Given the description of an element on the screen output the (x, y) to click on. 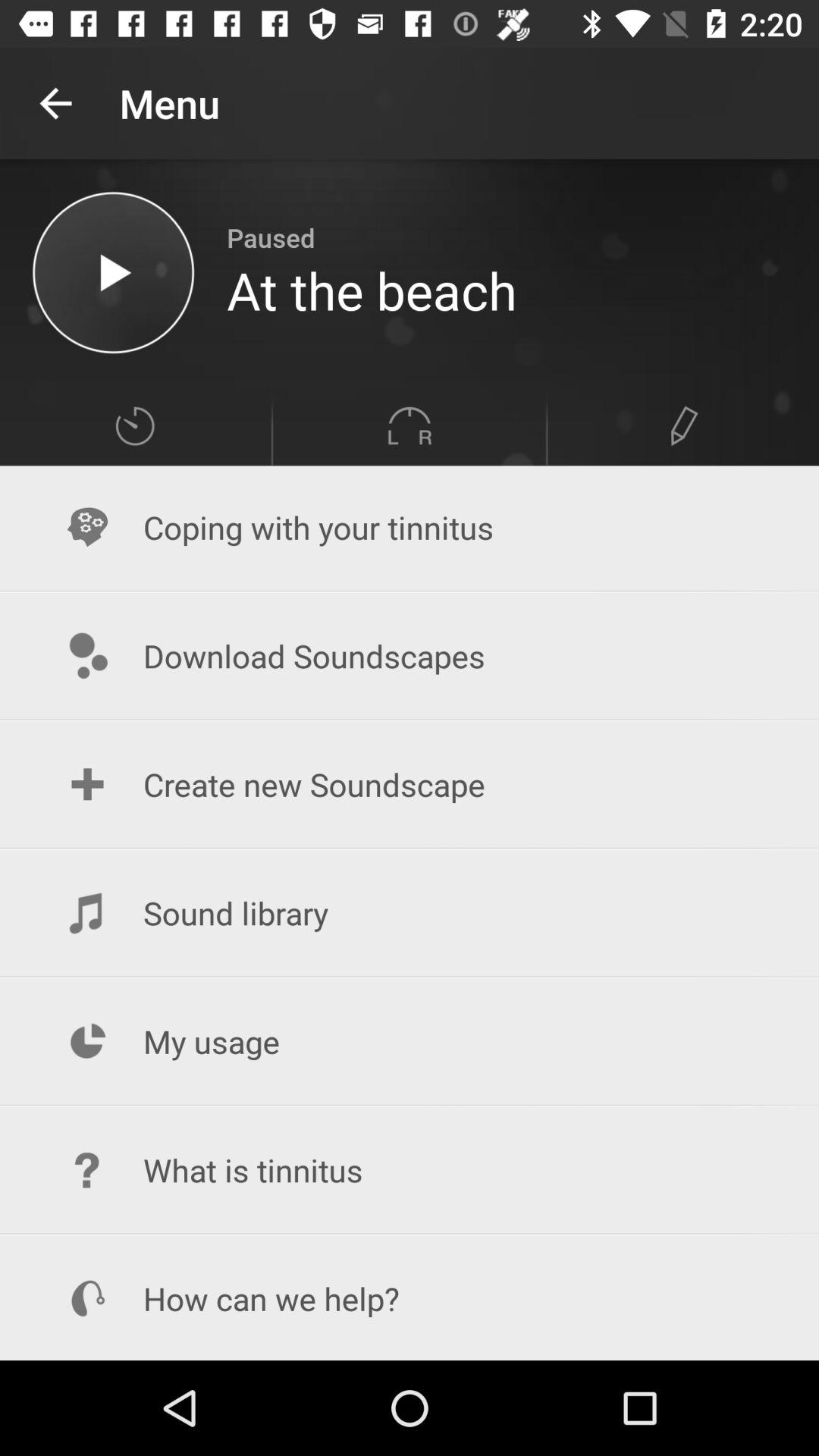
launch app next to the menu (55, 103)
